Given the description of an element on the screen output the (x, y) to click on. 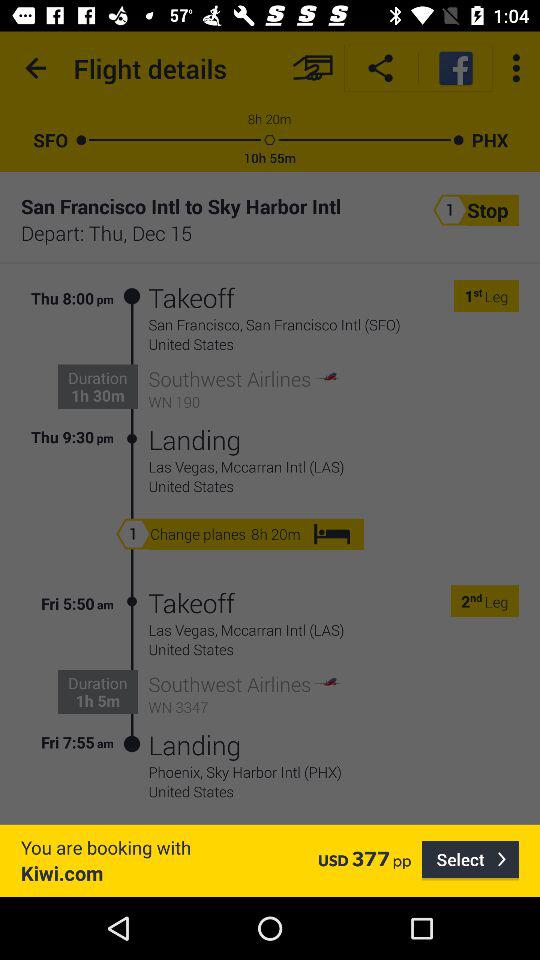
turn off icon next to the flight details (36, 68)
